Given the description of an element on the screen output the (x, y) to click on. 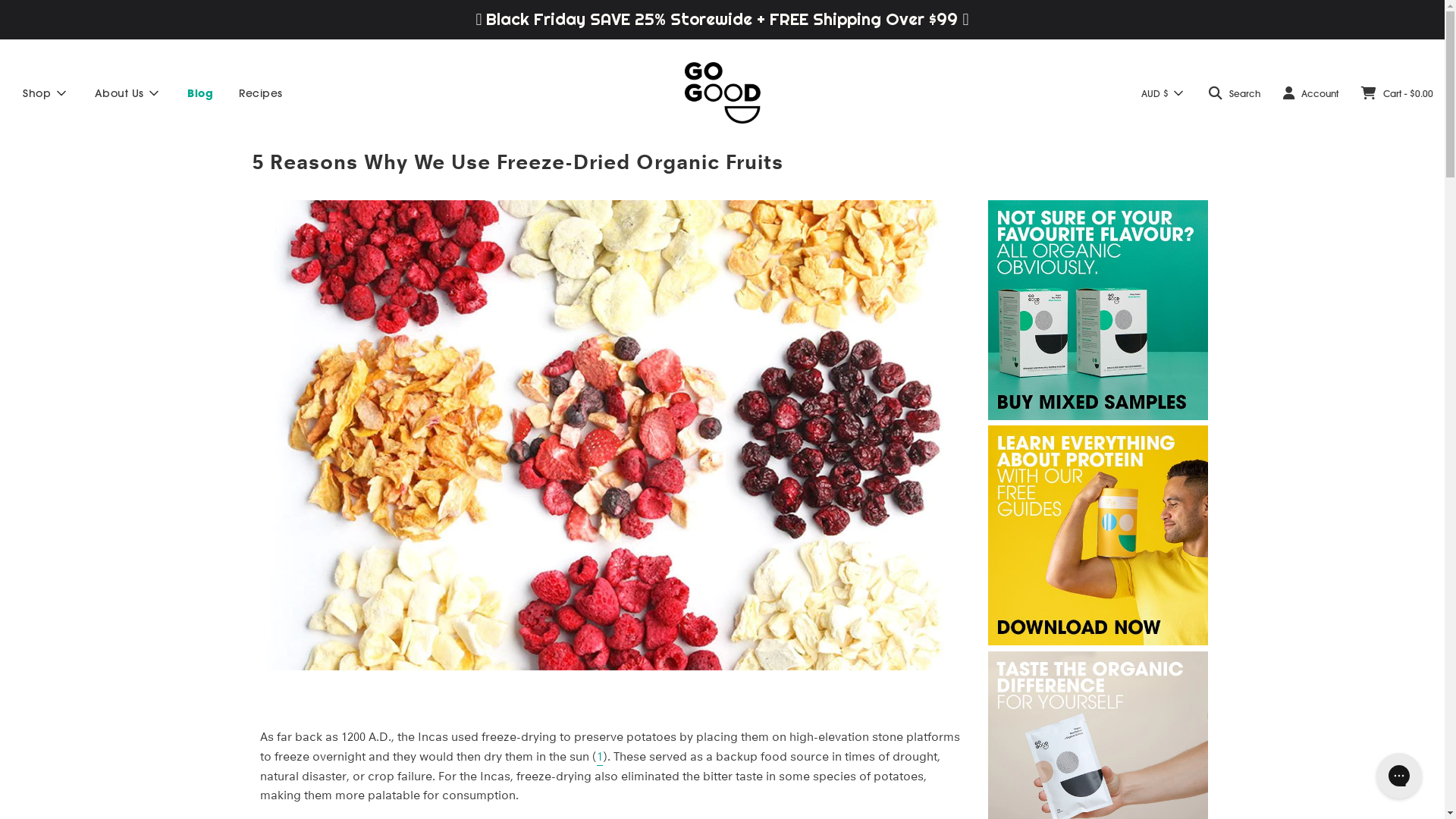
Account Element type: text (1310, 93)
Gorgias live chat messenger Element type: hover (1398, 775)
Blog Element type: text (199, 92)
Recipes Element type: text (260, 92)
Cart - $0.00 Element type: text (1397, 92)
1 Element type: text (599, 757)
About Us Element type: text (128, 92)
Search Element type: text (1234, 93)
Shop Element type: text (45, 92)
AUD $ Element type: text (1161, 93)
